Given the description of an element on the screen output the (x, y) to click on. 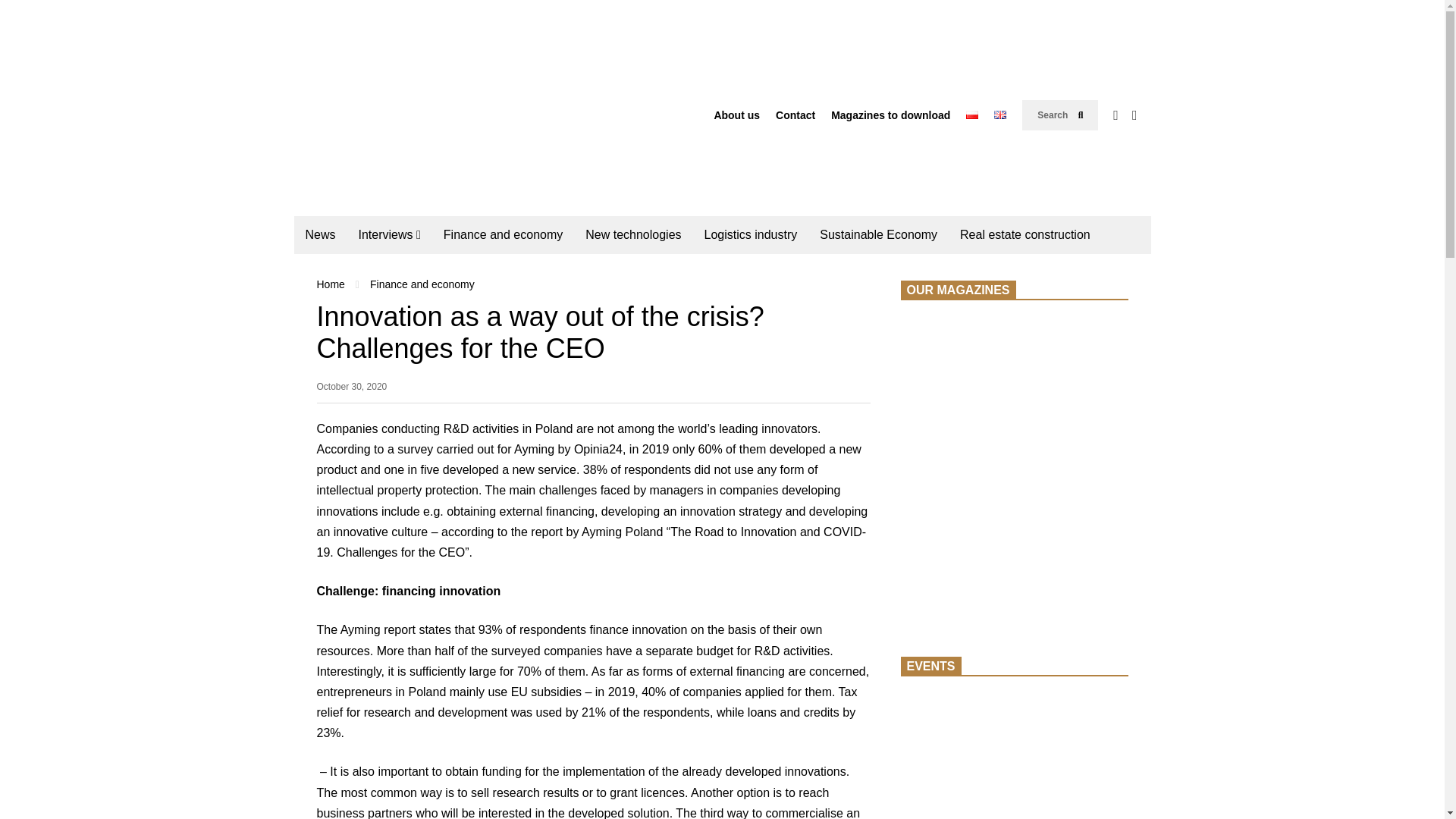
Finance and economy (421, 284)
Home (331, 284)
Sustainable Economy (878, 234)
Finance and economy (502, 234)
News (320, 234)
October 30, 2020 (352, 391)
Facebook (1115, 114)
Magazines to download (890, 114)
Search (1059, 114)
Linkedin (1134, 114)
New technologies (633, 234)
Contact (795, 114)
Logistics industry (751, 234)
Interviews (389, 234)
About us (736, 114)
